Given the description of an element on the screen output the (x, y) to click on. 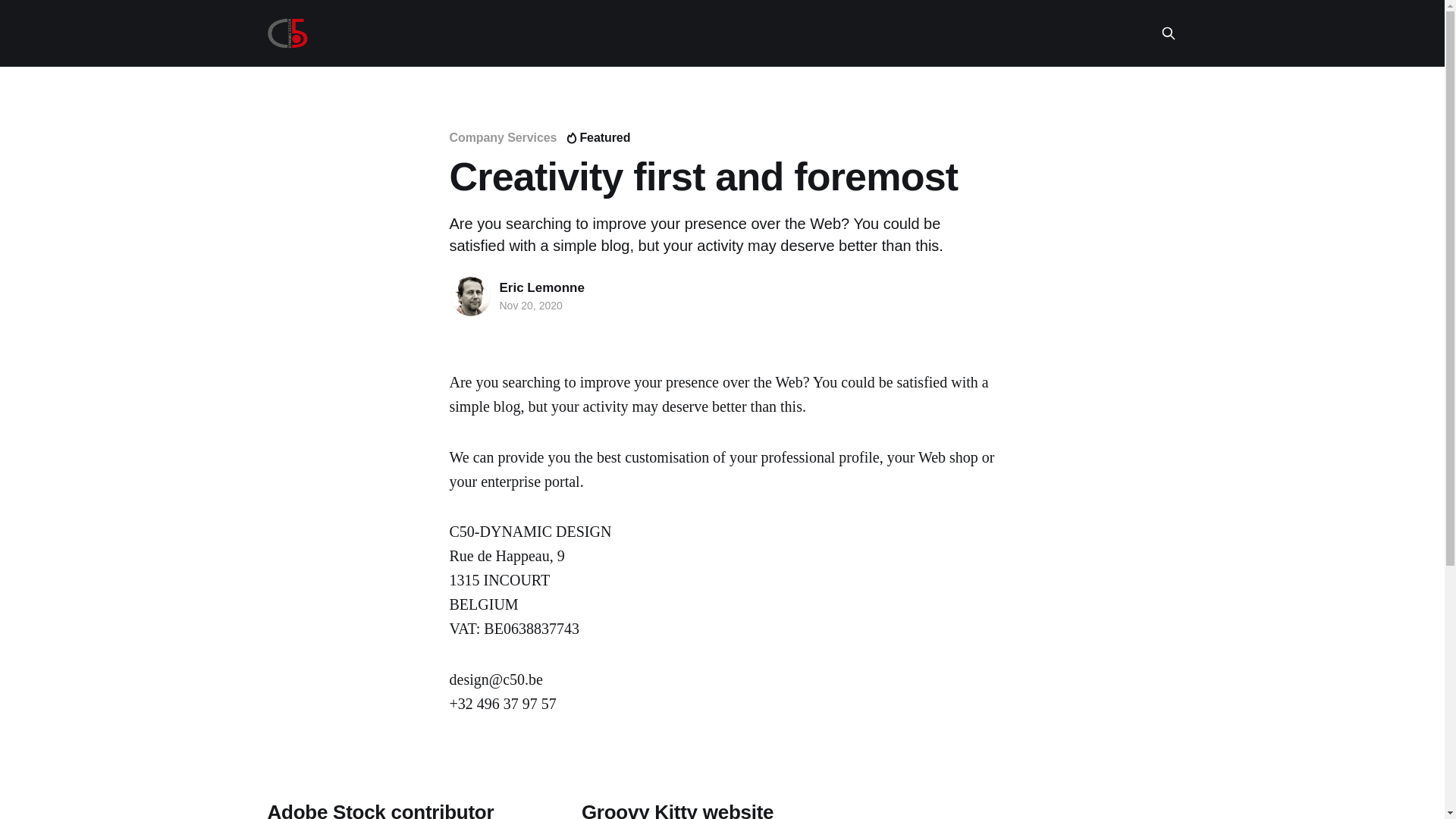
Eric Lemonne Element type: text (540, 287)
Company Services Element type: text (502, 137)
